Given the description of an element on the screen output the (x, y) to click on. 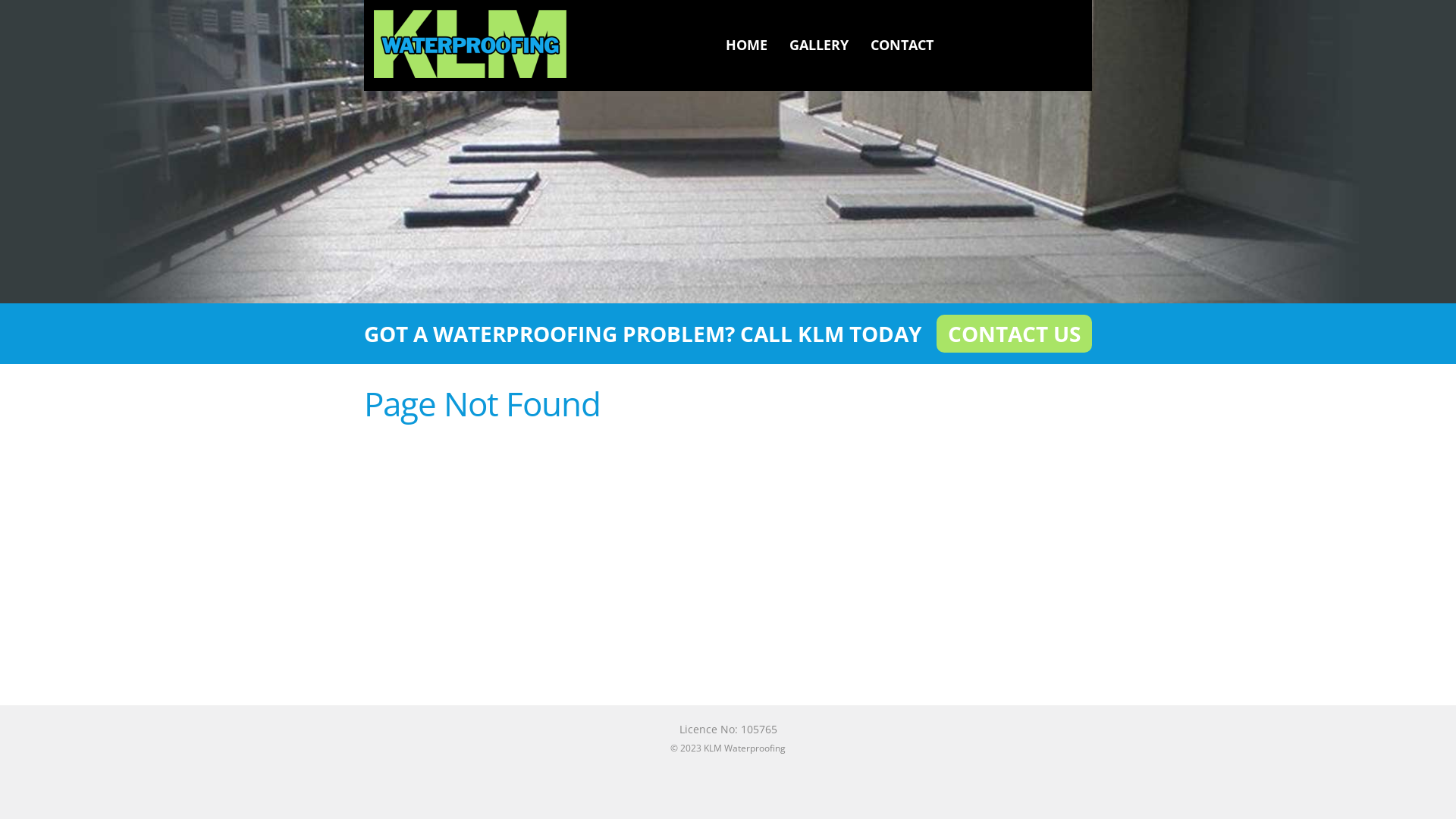
CONTACT Element type: text (901, 44)
HOME Element type: text (746, 44)
GALLERY Element type: text (818, 44)
CONTACT US Element type: text (1014, 333)
